Given the description of an element on the screen output the (x, y) to click on. 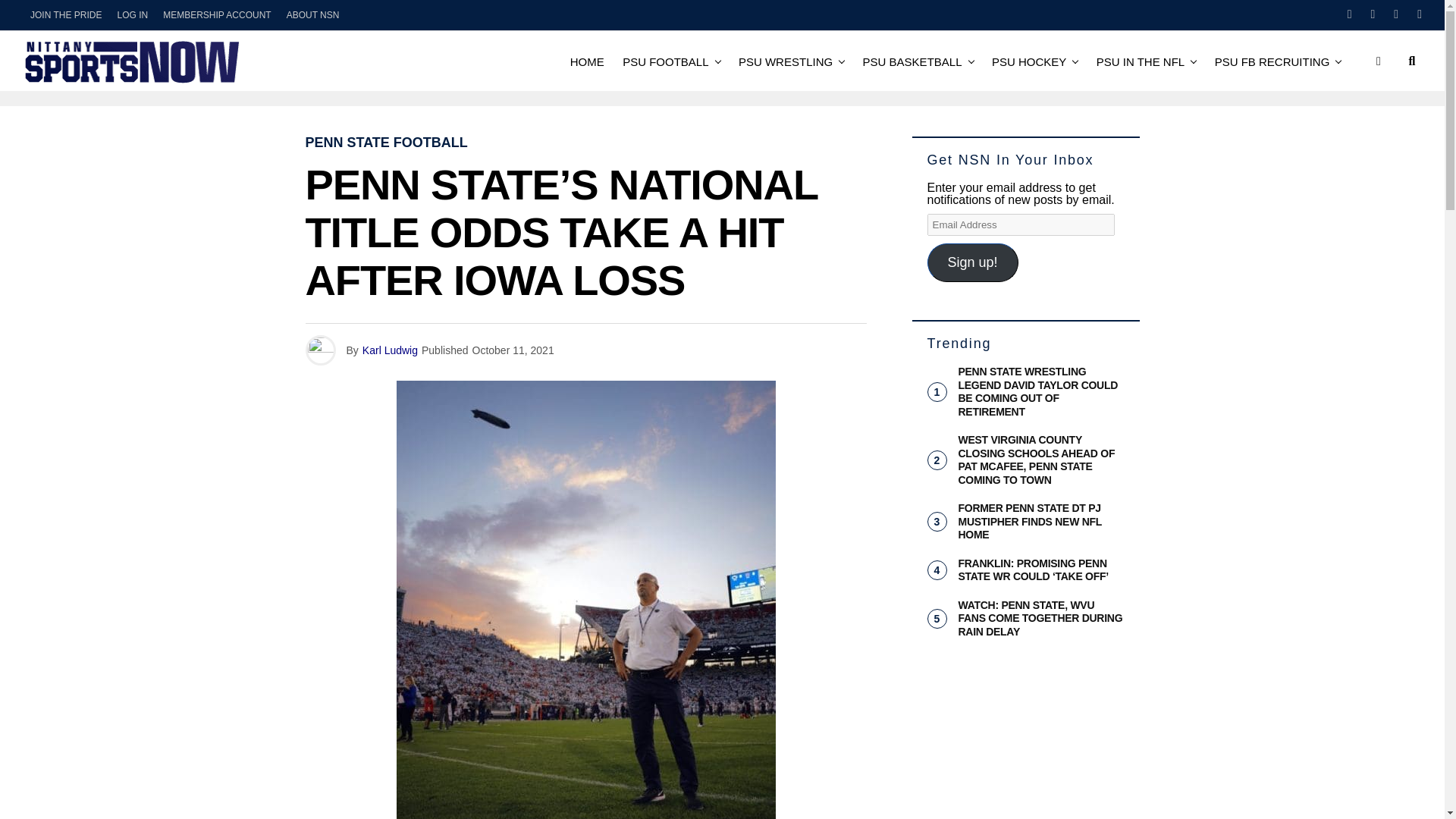
LOG IN (132, 15)
ABOUT NSN (313, 15)
PSU FOOTBALL (665, 61)
JOIN THE PRIDE (66, 15)
Posts by Karl Ludwig (389, 349)
MEMBERSHIP ACCOUNT (216, 15)
PSU WRESTLING (785, 61)
